Given the description of an element on the screen output the (x, y) to click on. 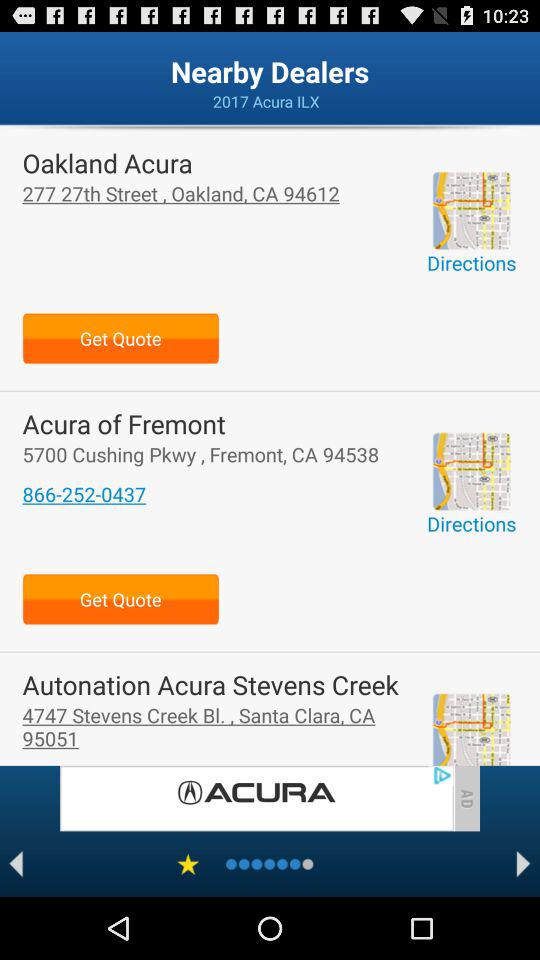
zoom in to directions (471, 471)
